Given the description of an element on the screen output the (x, y) to click on. 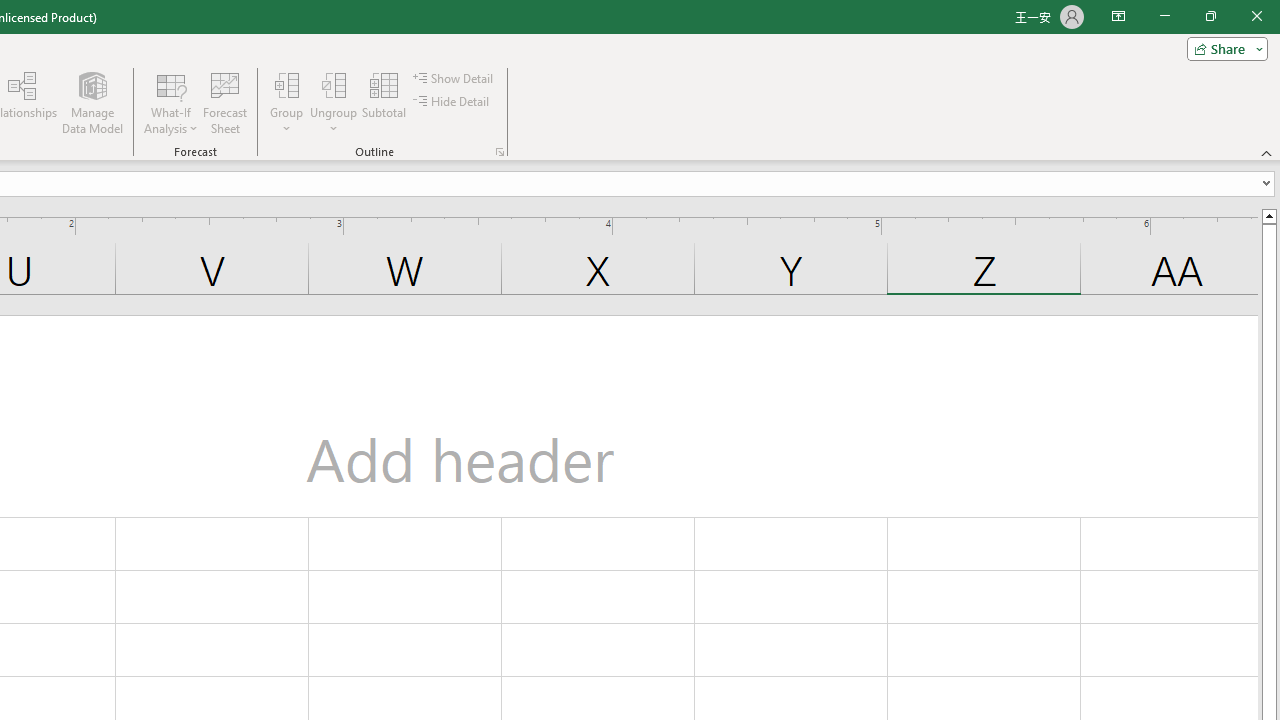
Collapse the Ribbon (1267, 152)
Group and Outline Settings (499, 151)
Show Detail (454, 78)
Group... (287, 102)
Share (1223, 48)
